Given the description of an element on the screen output the (x, y) to click on. 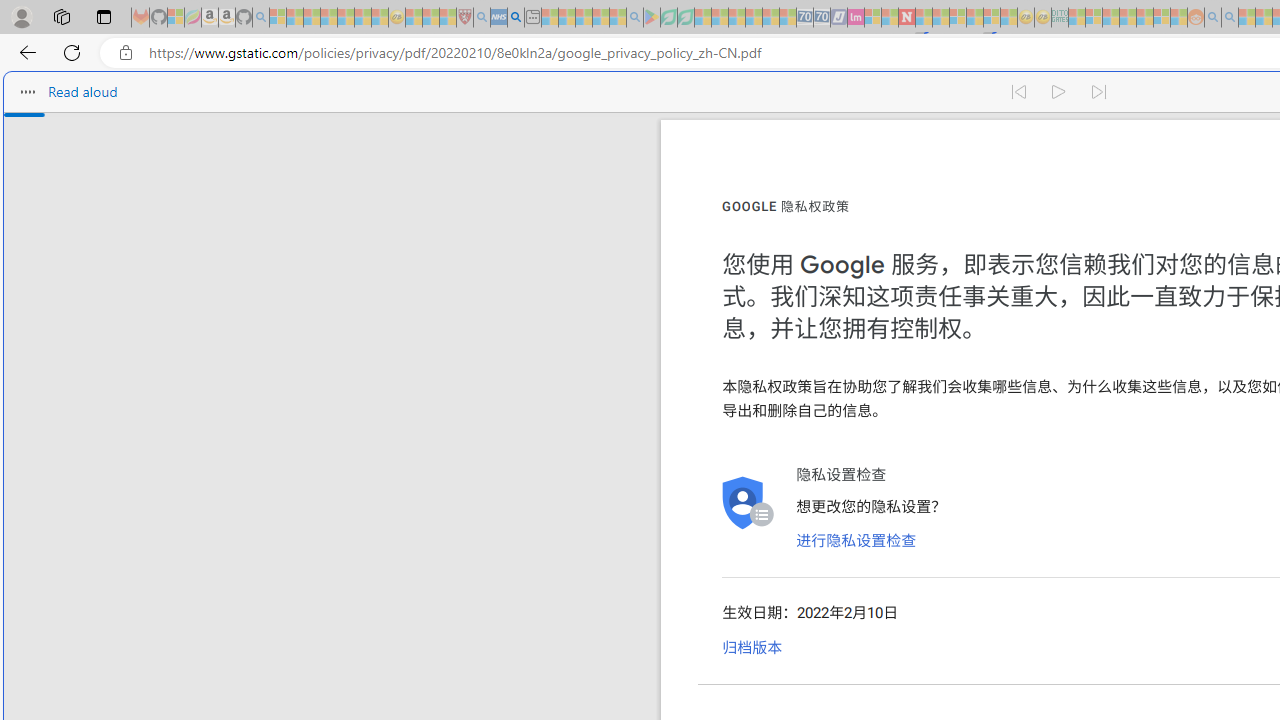
Jobs - lastminute.com Investor Portal - Sleeping (855, 17)
Continue to read aloud (Ctrl+Shift+U) (1059, 92)
View site information (125, 53)
Microsoft-Report a Concern to Bing - Sleeping (175, 17)
utah sues federal government - Search (515, 17)
google - Search - Sleeping (634, 17)
Back (24, 52)
Workspaces (61, 16)
NCL Adult Asthma Inhaler Choice Guideline - Sleeping (498, 17)
Bluey: Let's Play! - Apps on Google Play - Sleeping (651, 17)
